Given the description of an element on the screen output the (x, y) to click on. 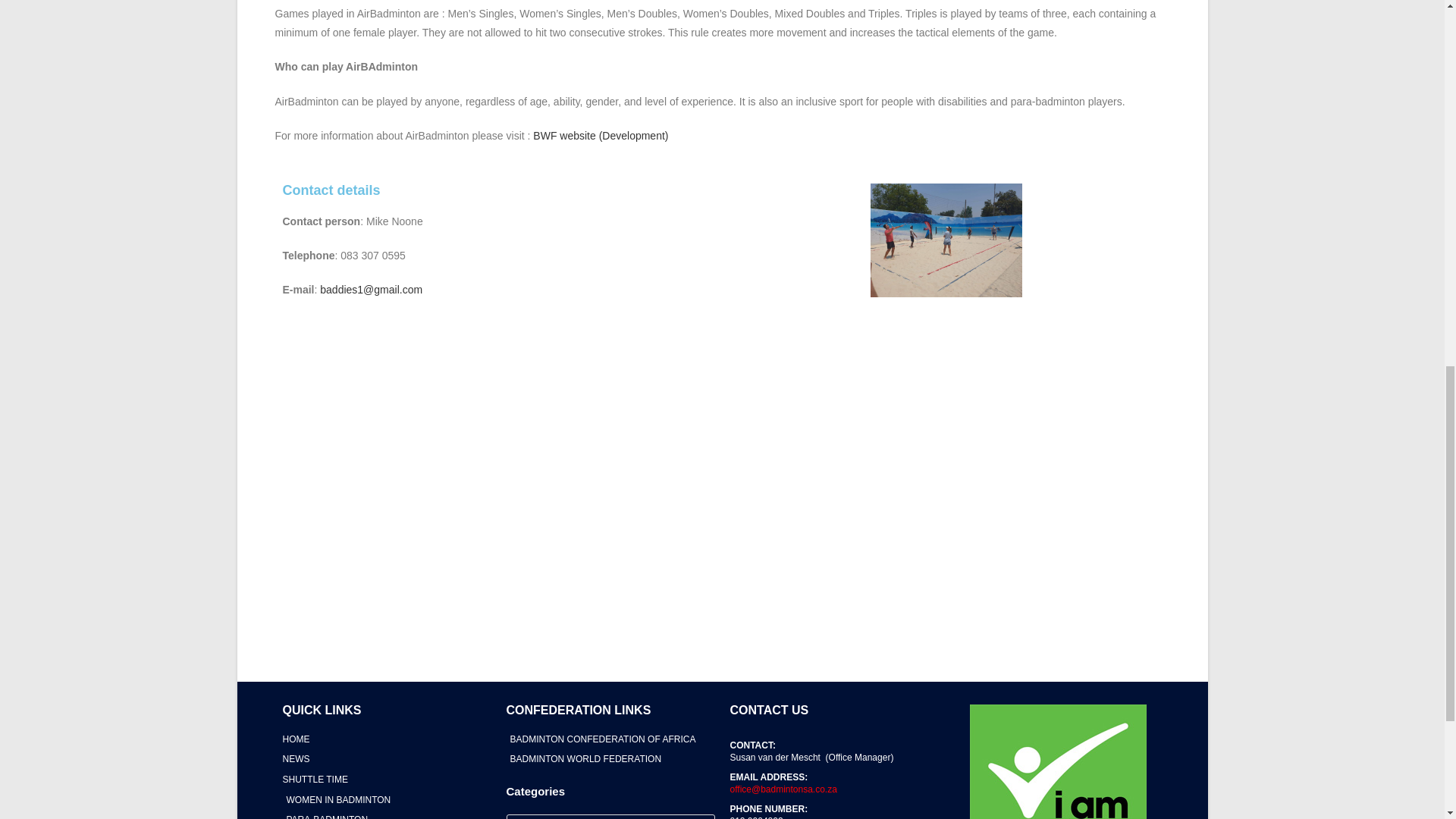
word-image (946, 240)
